Given the description of an element on the screen output the (x, y) to click on. 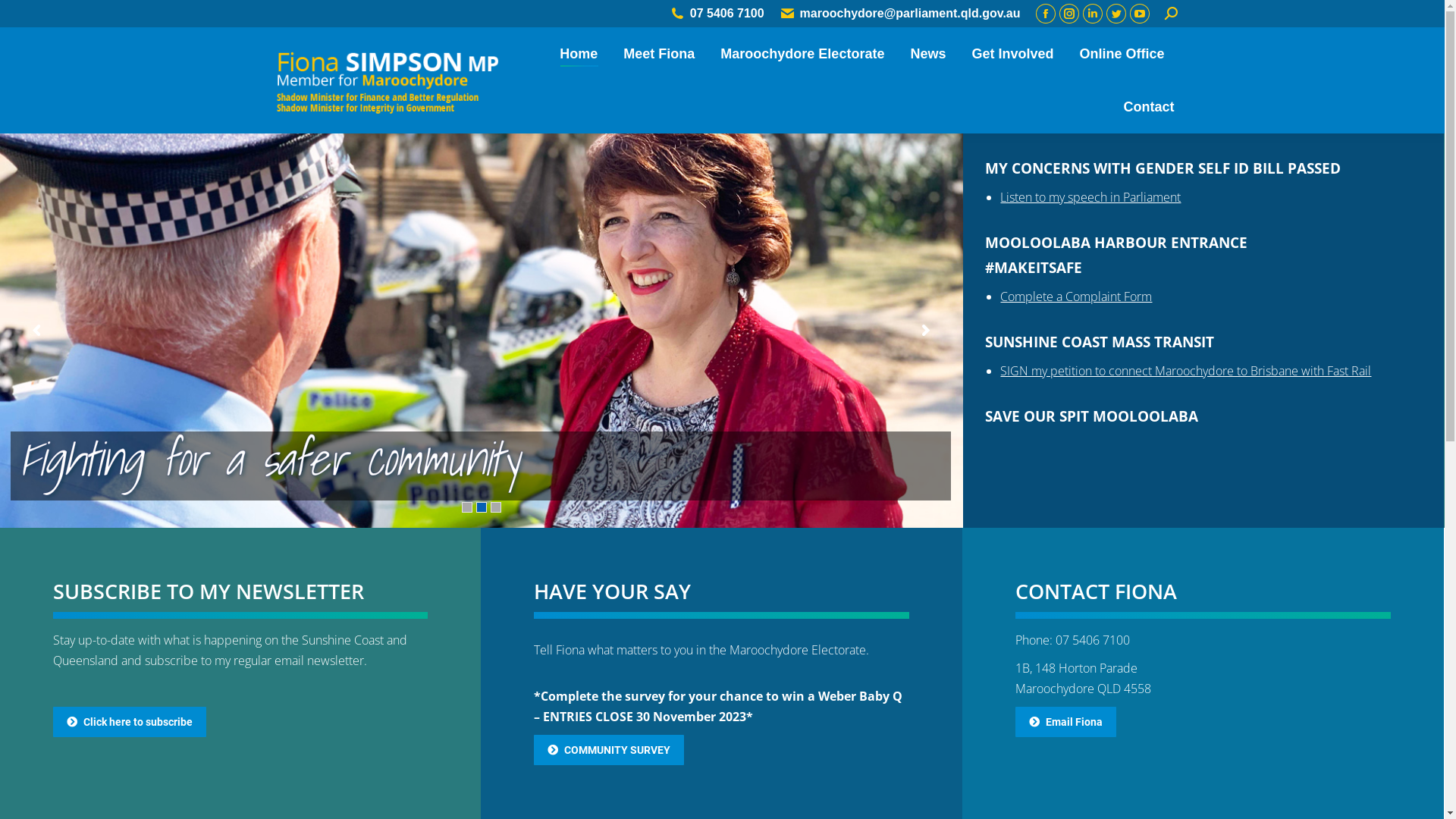
Email Fiona Element type: text (1065, 721)
Linkedin page opens in new window Element type: text (1092, 13)
News Element type: text (927, 53)
Meet Fiona Element type: text (658, 53)
Get Involved Element type: text (1012, 53)
Instagram page opens in new window Element type: text (1069, 13)
maroochydore@parliament.qld.gov.au Element type: text (899, 13)
MY CONCERNS WITH GENDER SELF ID BILL PASSED Element type: text (1162, 167)
COMMUNITY SURVEY Element type: text (608, 749)
MOOLOOLABA HARBOUR ENTRANCE
#MAKEITSAFE Element type: text (1116, 254)
Complete a Complaint Form Element type: text (1075, 296)
Home Element type: text (578, 53)
YouTube page opens in new window Element type: text (1139, 13)
SAVE OUR SPIT MOOLOOLABA Element type: text (1091, 415)
Click here to subscribe Element type: text (129, 721)
Facebook page opens in new window Element type: text (1045, 13)
Online Office Element type: text (1121, 53)
07 5406 7100 Element type: text (716, 13)
Go! Element type: text (23, 16)
Maroochydore Electorate Element type: text (802, 53)
Twitter page opens in new window Element type: text (1116, 13)
Listen to my speech in Parliament Element type: text (1090, 196)
SUNSHINE COAST MASS TRANSIT Element type: text (1099, 341)
Contact Element type: text (1148, 106)
